Given the description of an element on the screen output the (x, y) to click on. 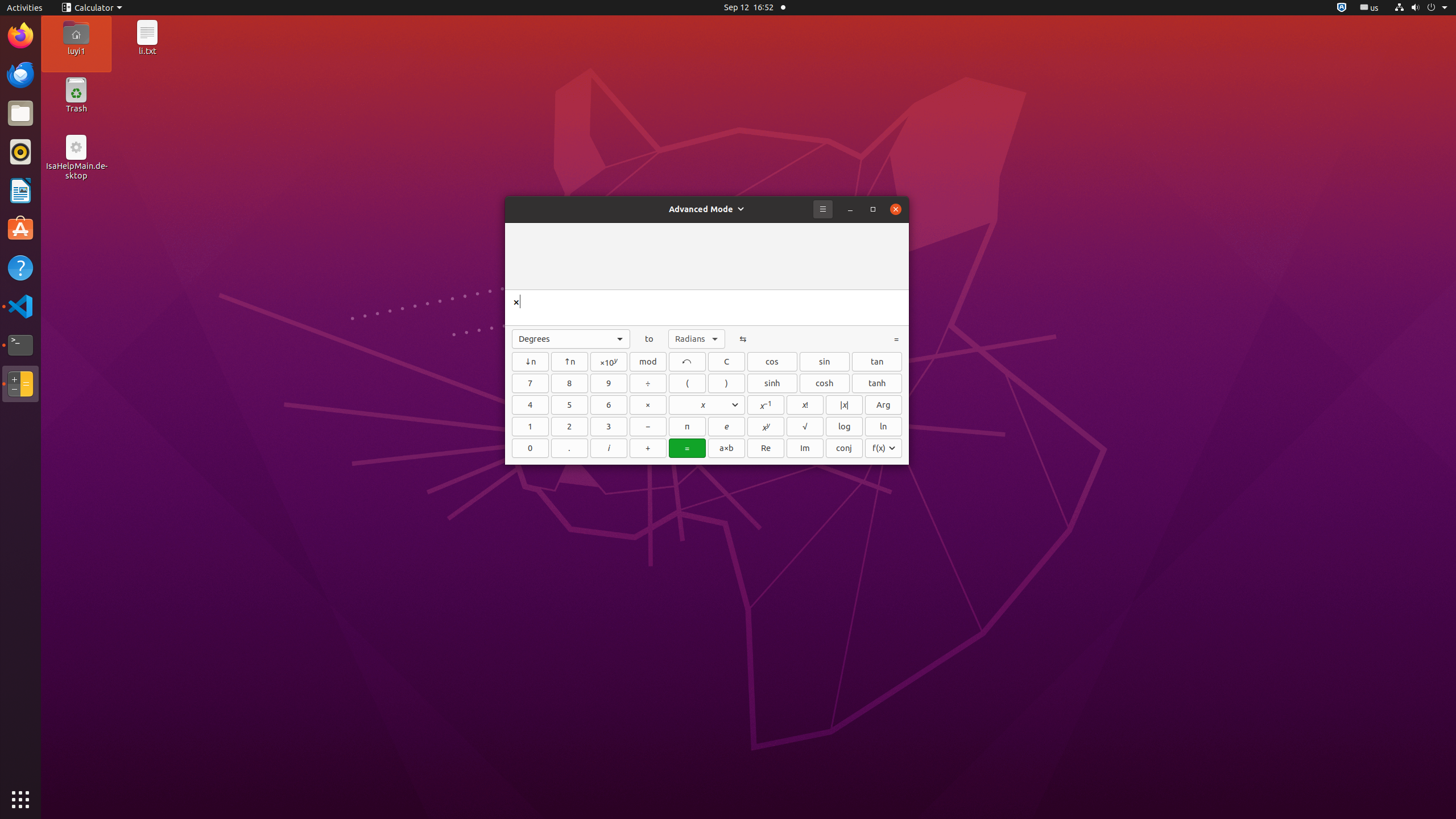
Terminal Element type: push-button (20, 344)
( Element type: push-button (686, 383)
÷ Element type: push-button (647, 383)
sin Element type: push-button (824, 361)
⇆ Element type: push-button (742, 338)
